Given the description of an element on the screen output the (x, y) to click on. 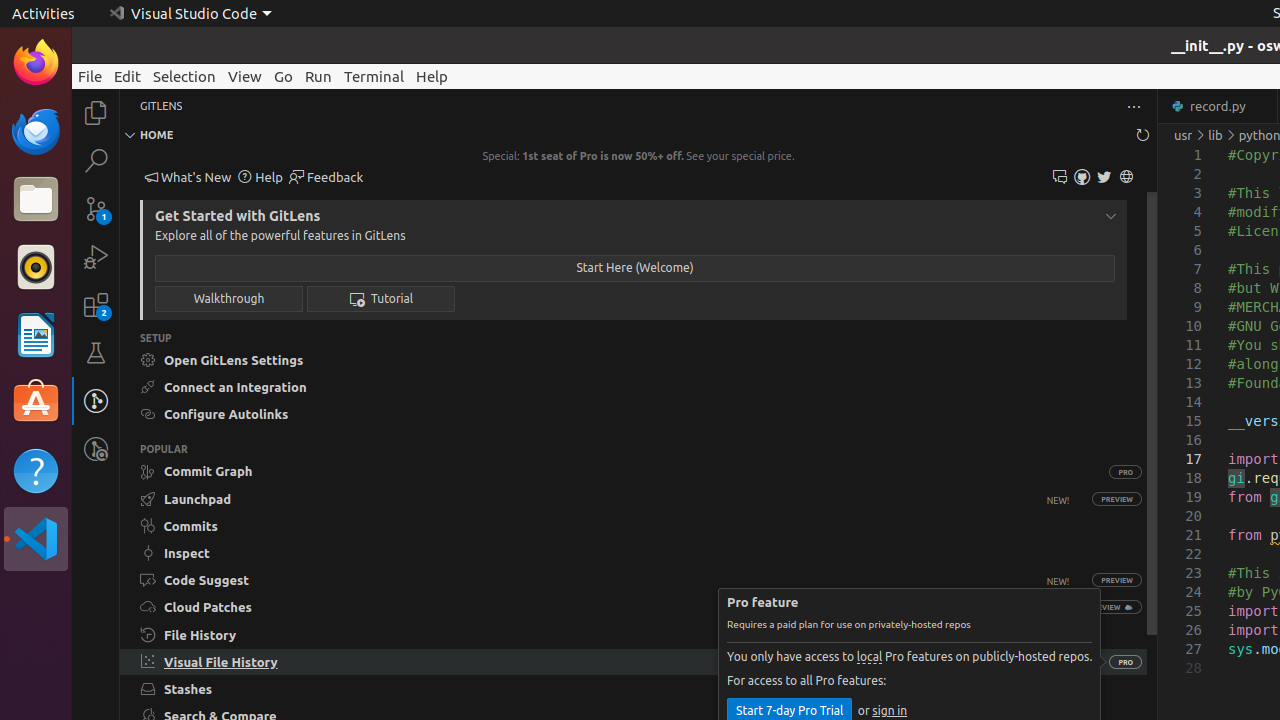
Feedback Element type: link (326, 177)
Terminal Element type: push-button (374, 76)
